Given the description of an element on the screen output the (x, y) to click on. 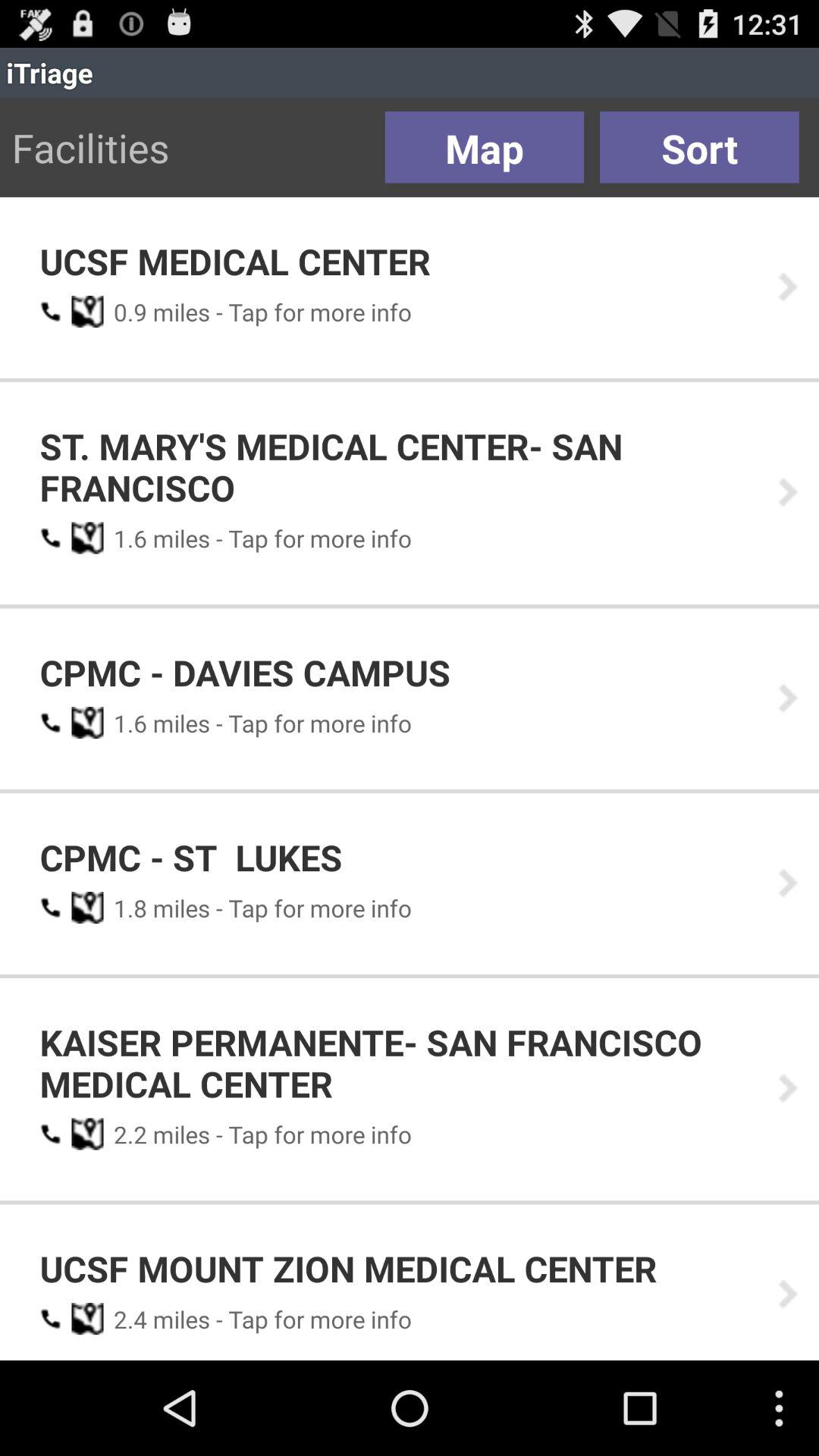
turn off the item below the ucsf medical center icon (125, 311)
